Given the description of an element on the screen output the (x, y) to click on. 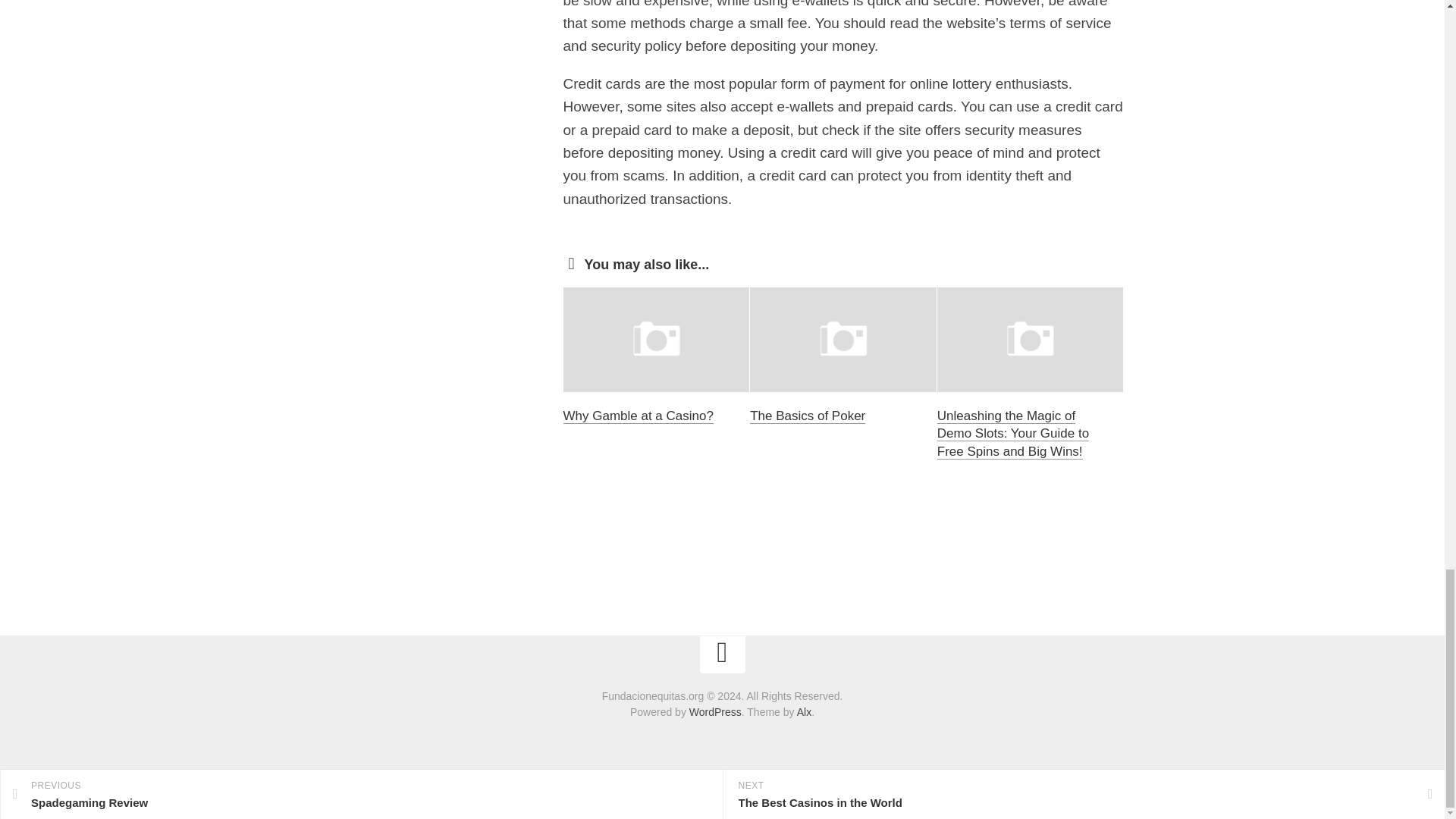
Why Gamble at a Casino? (637, 415)
The Basics of Poker (806, 415)
